Given the description of an element on the screen output the (x, y) to click on. 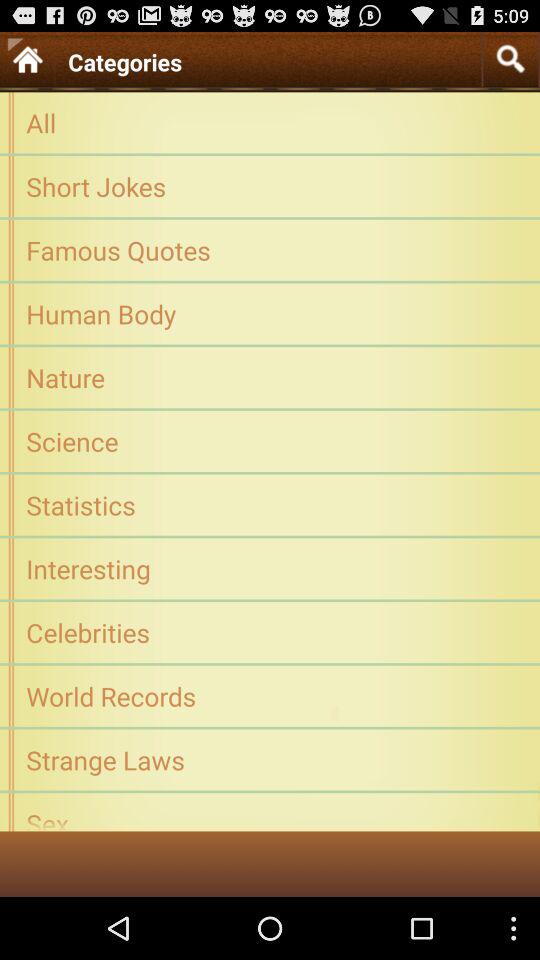
turn on app above the short jokes (270, 122)
